Given the description of an element on the screen output the (x, y) to click on. 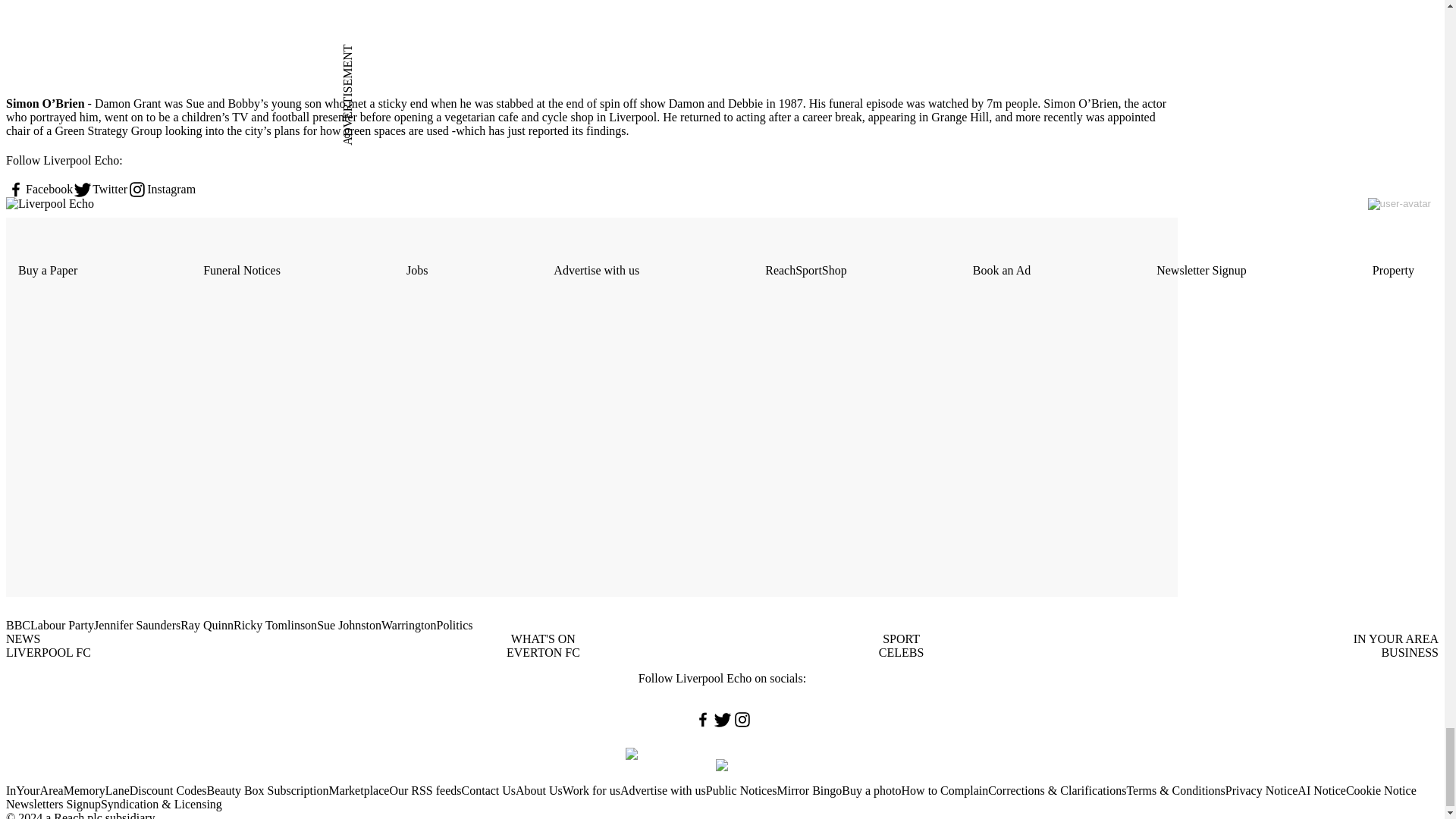
Twitter (100, 189)
Facebook (38, 189)
Instagram (161, 189)
